Given the description of an element on the screen output the (x, y) to click on. 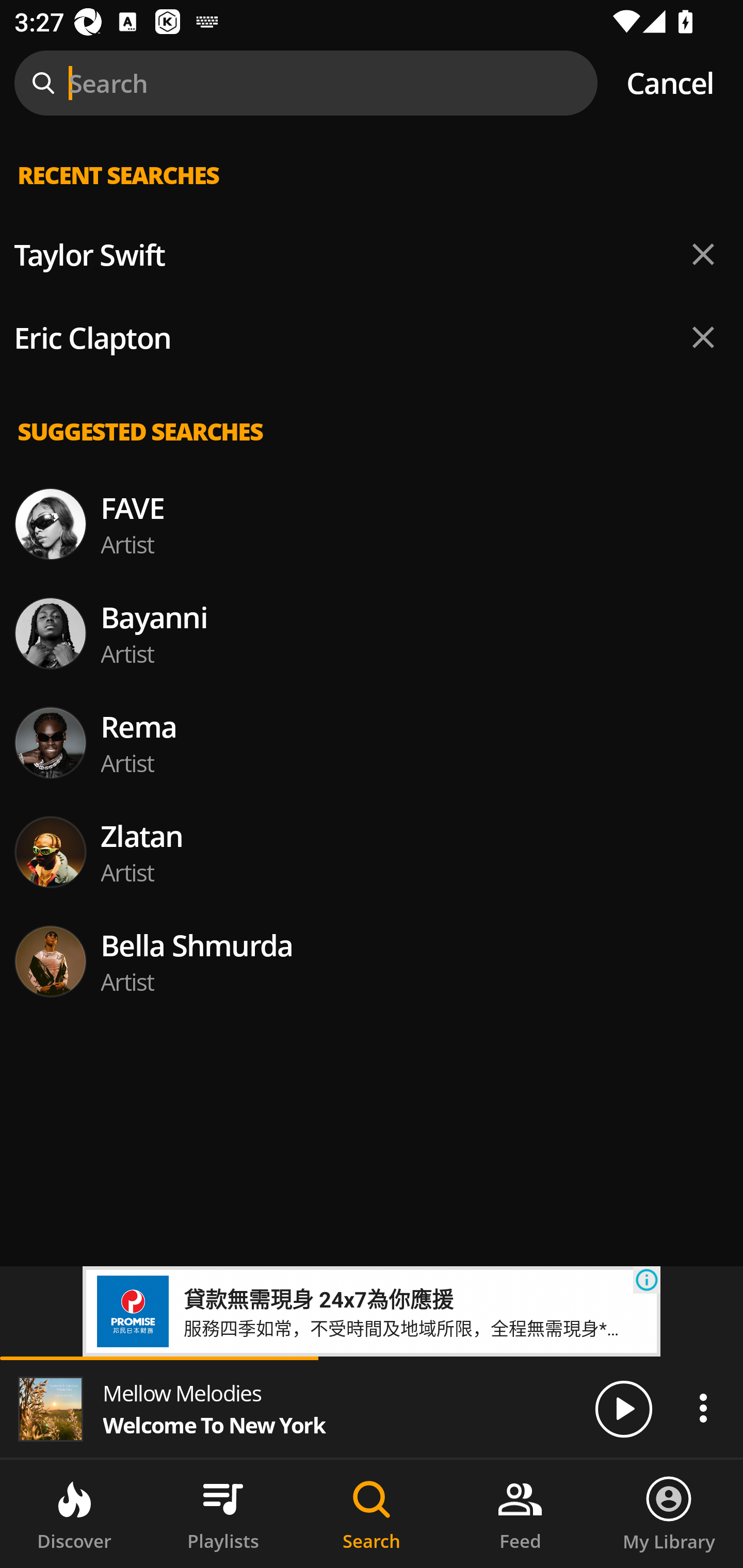
Search Cancel (371, 82)
Cancel (670, 82)
Artists, songs, albums and playlists… (371, 191)
Taylor Swift Delete (371, 254)
Delete (703, 254)
Eric Clapton Delete (371, 337)
Delete (703, 336)
FAVE Artist (371, 523)
Bayanni Artist (371, 633)
Rema Artist (371, 743)
Zlatan Artist (371, 852)
Bella Shmurda Artist (371, 961)
Ad Choices Icon (646, 1279)
貸款無需現身 24x7為你應援 (318, 1297)
服務四季如常，不受時間及地域所限，全程無需現身*，申請至過數網上辦妥，邦民總為你及時應援！ (408, 1326)
Actions (703, 1407)
Play/Pause (623, 1408)
Discover (74, 1513)
Playlists (222, 1513)
Search (371, 1513)
Feed (519, 1513)
My Library (668, 1513)
